Given the description of an element on the screen output the (x, y) to click on. 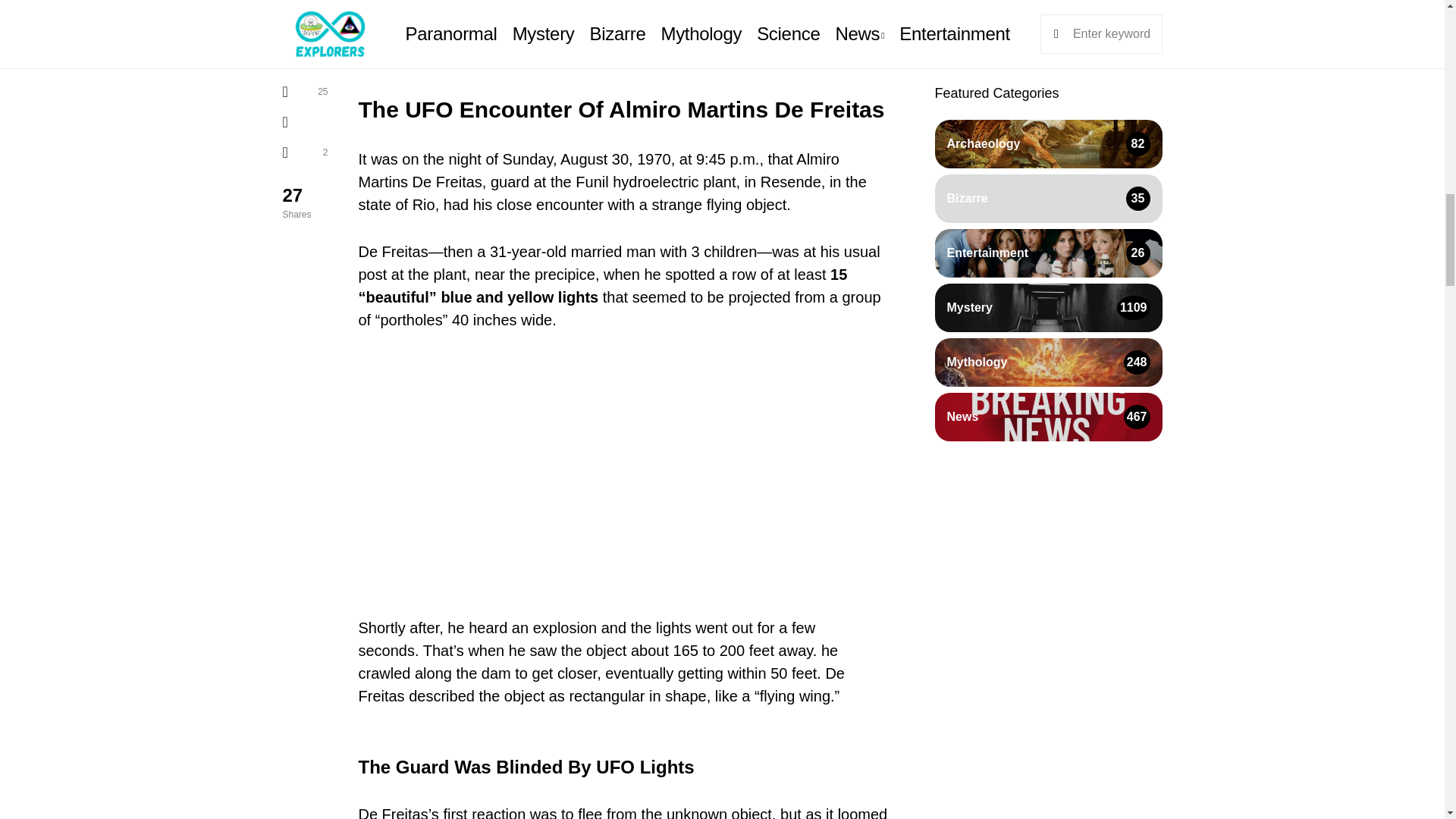
Advertisement (623, 461)
Consequences and residual evidence (528, 28)
Other Witnesses Of The UFO (505, 9)
